Given the description of an element on the screen output the (x, y) to click on. 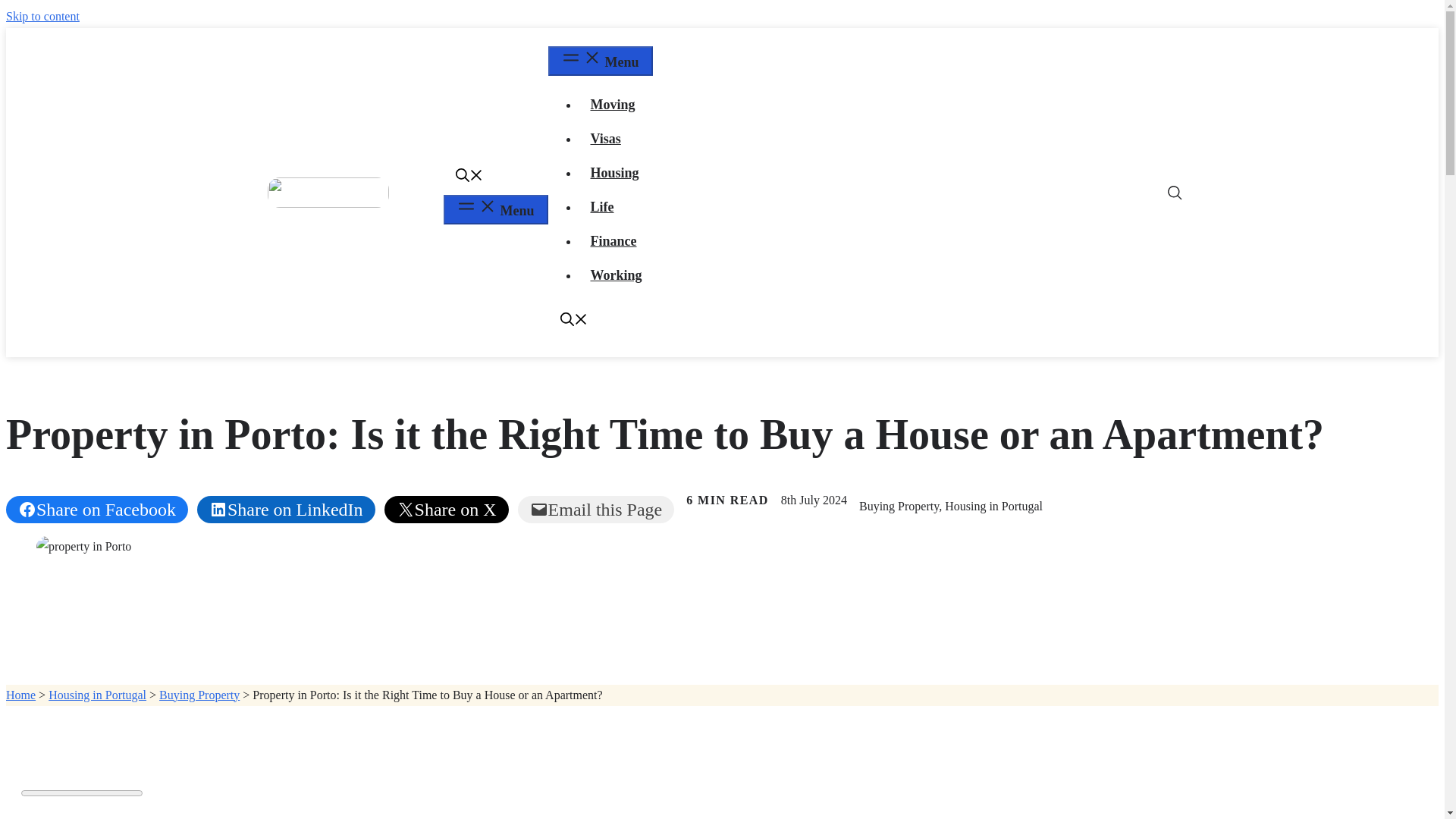
Housing in Portugal (97, 694)
Skip to content (42, 15)
Buying Property (199, 694)
Share on Facebook (96, 509)
Life (602, 206)
beportugal-logo-black (327, 192)
Email this Page (596, 509)
Housing (614, 172)
Share on LinkedIn (285, 509)
Menu (494, 209)
Share on X (446, 509)
Menu (599, 60)
Finance (612, 240)
Moving (612, 104)
Skip to content (42, 15)
